Given the description of an element on the screen output the (x, y) to click on. 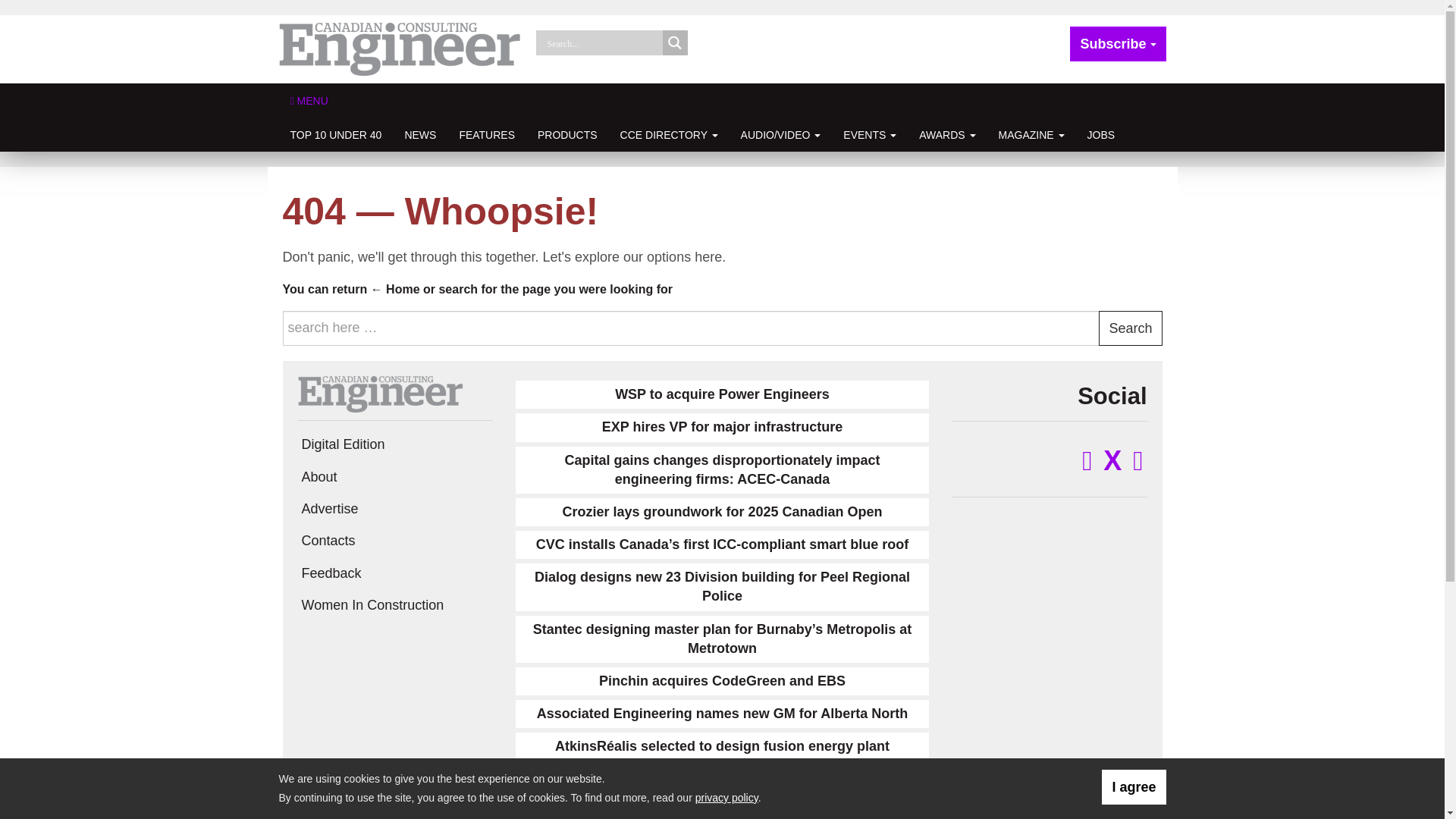
MENU (309, 100)
Home (395, 288)
JOBS (1100, 134)
Canadian Consulting Engineer (380, 393)
NEWS (419, 134)
PRODUCTS (566, 134)
TOP 10 UNDER 40 (336, 134)
FEATURES (485, 134)
MAGAZINE (1031, 134)
Subscribe (1118, 43)
